Given the description of an element on the screen output the (x, y) to click on. 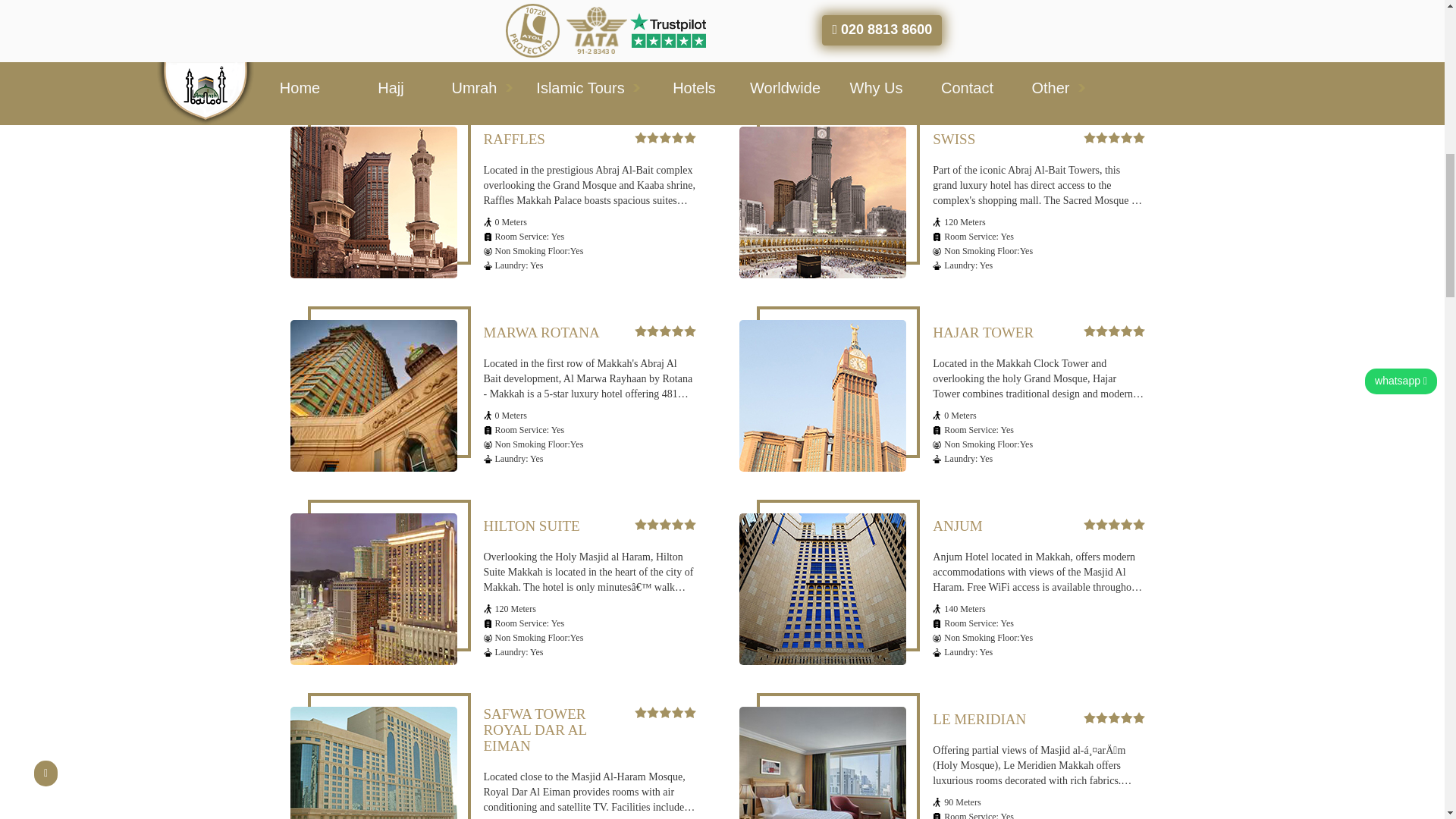
MARWA ROTANA (373, 395)
DAR AL THAWHID (373, 39)
RAFFLES (373, 202)
FAIRMONT CLOCK TOWER (822, 39)
SWISS (822, 202)
